Given the description of an element on the screen output the (x, y) to click on. 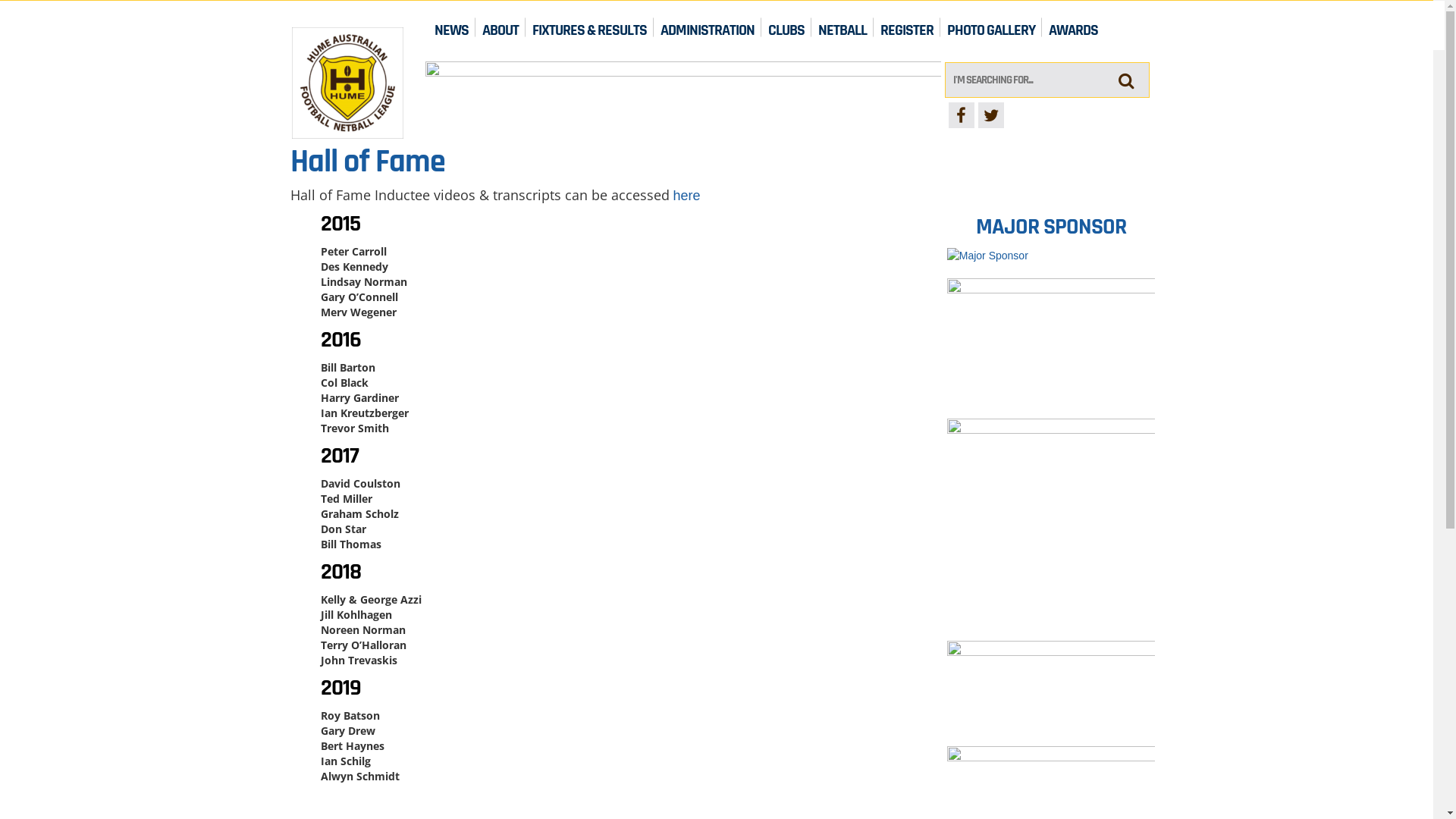
NEWS Element type: text (451, 26)
FIXTURES & RESULTS Element type: text (589, 26)
t Element type: text (991, 115)
ADMINISTRATION Element type: text (707, 26)
ABOUT Element type: text (500, 26)
f Element type: text (960, 115)
Major Sponsor Element type: hover (987, 254)
CLUBS Element type: text (786, 26)
PHOTO GALLERY Element type: text (991, 26)
NETBALL Element type: text (842, 26)
REGISTER Element type: text (906, 26)
here Element type: text (686, 195)
s Element type: text (1126, 79)
AWARDS Element type: text (1073, 26)
